Given the description of an element on the screen output the (x, y) to click on. 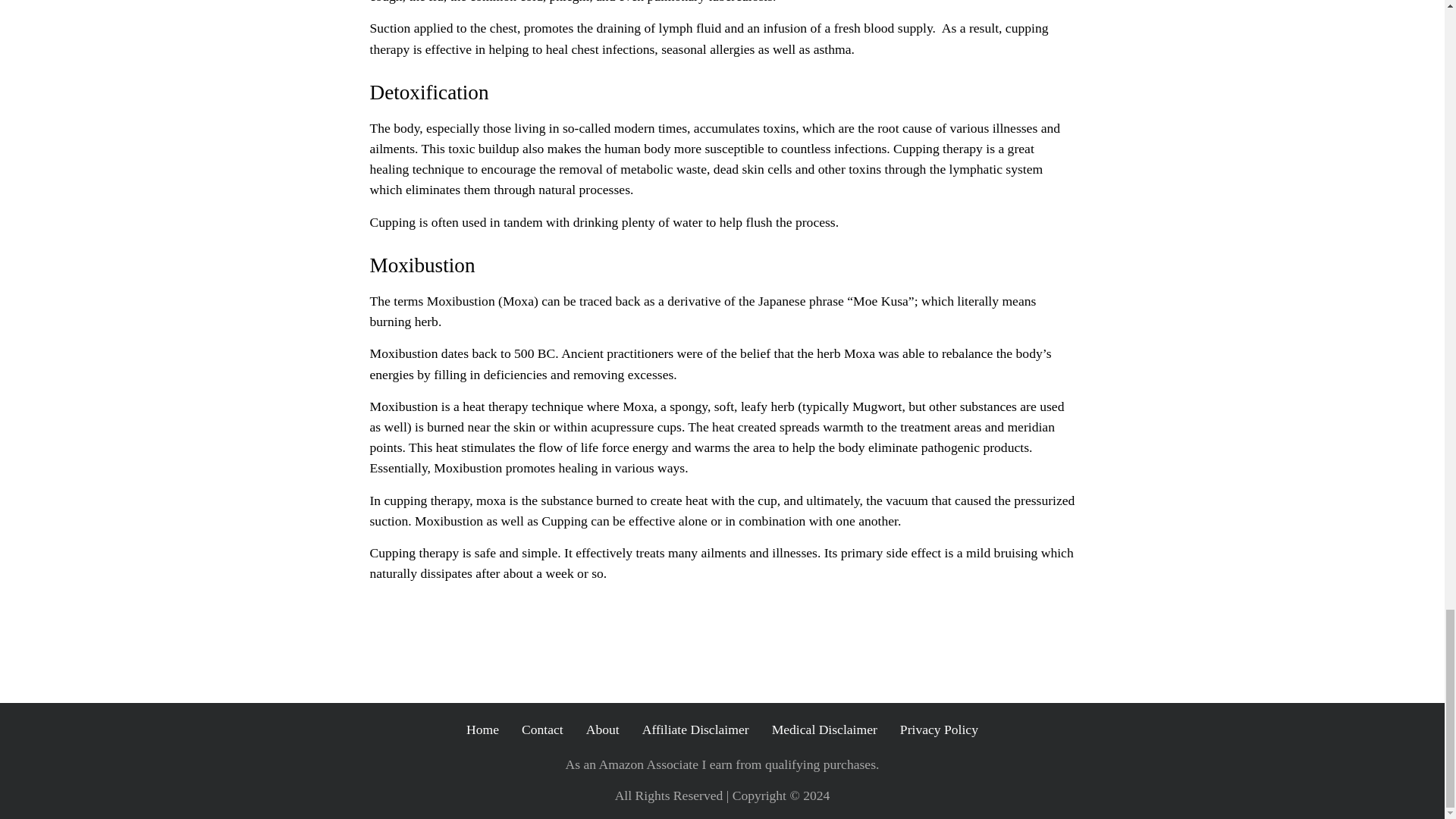
Privacy Policy (938, 729)
Contact (542, 729)
Affiliate Disclaimer (695, 729)
About (603, 729)
Medical Disclaimer (824, 729)
Home (482, 729)
